Given the description of an element on the screen output the (x, y) to click on. 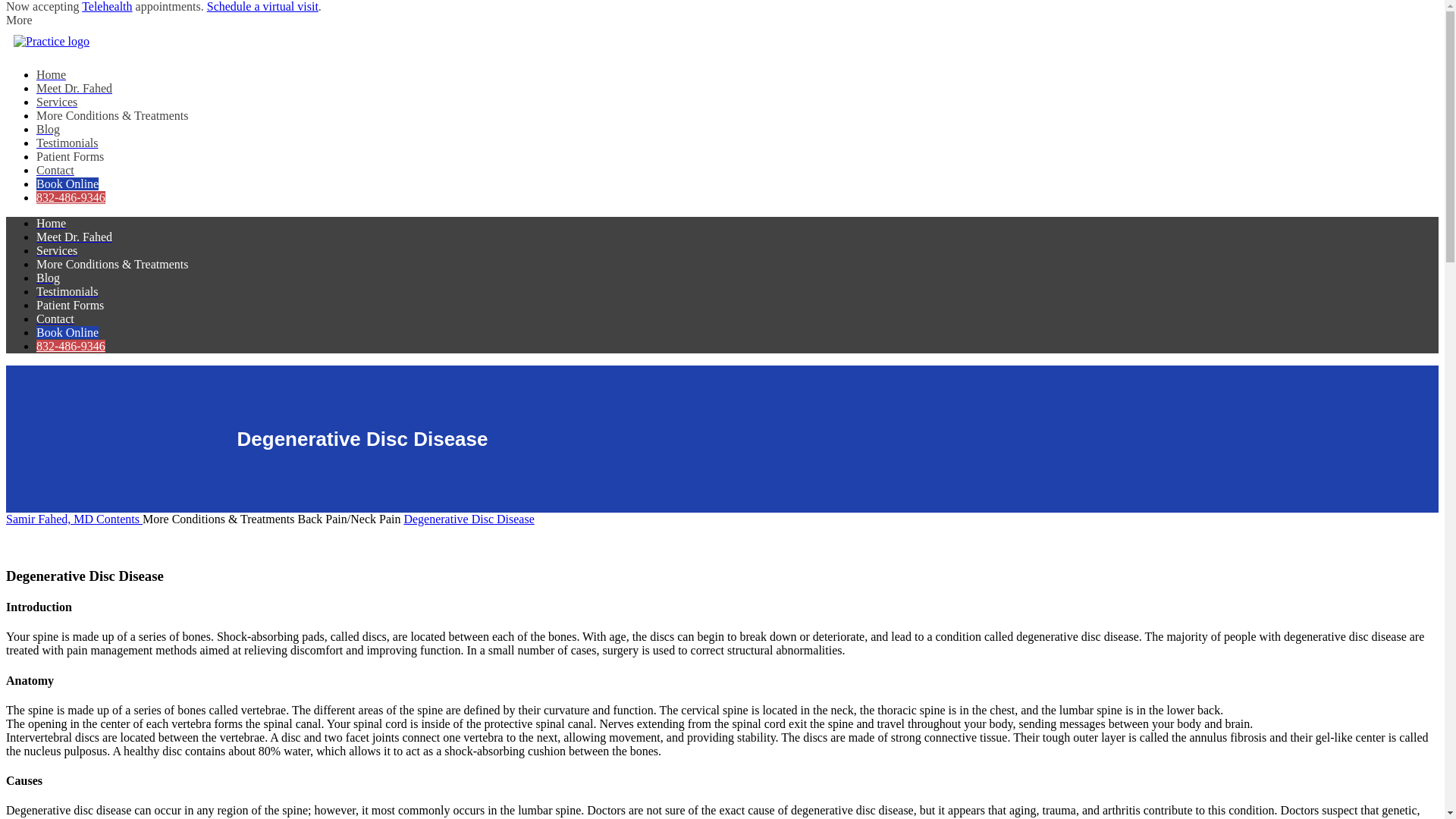
Schedule a virtual visit (262, 6)
Meet Dr. Fahed (74, 88)
Telehealth (106, 6)
Services (56, 101)
Home (50, 74)
